Given the description of an element on the screen output the (x, y) to click on. 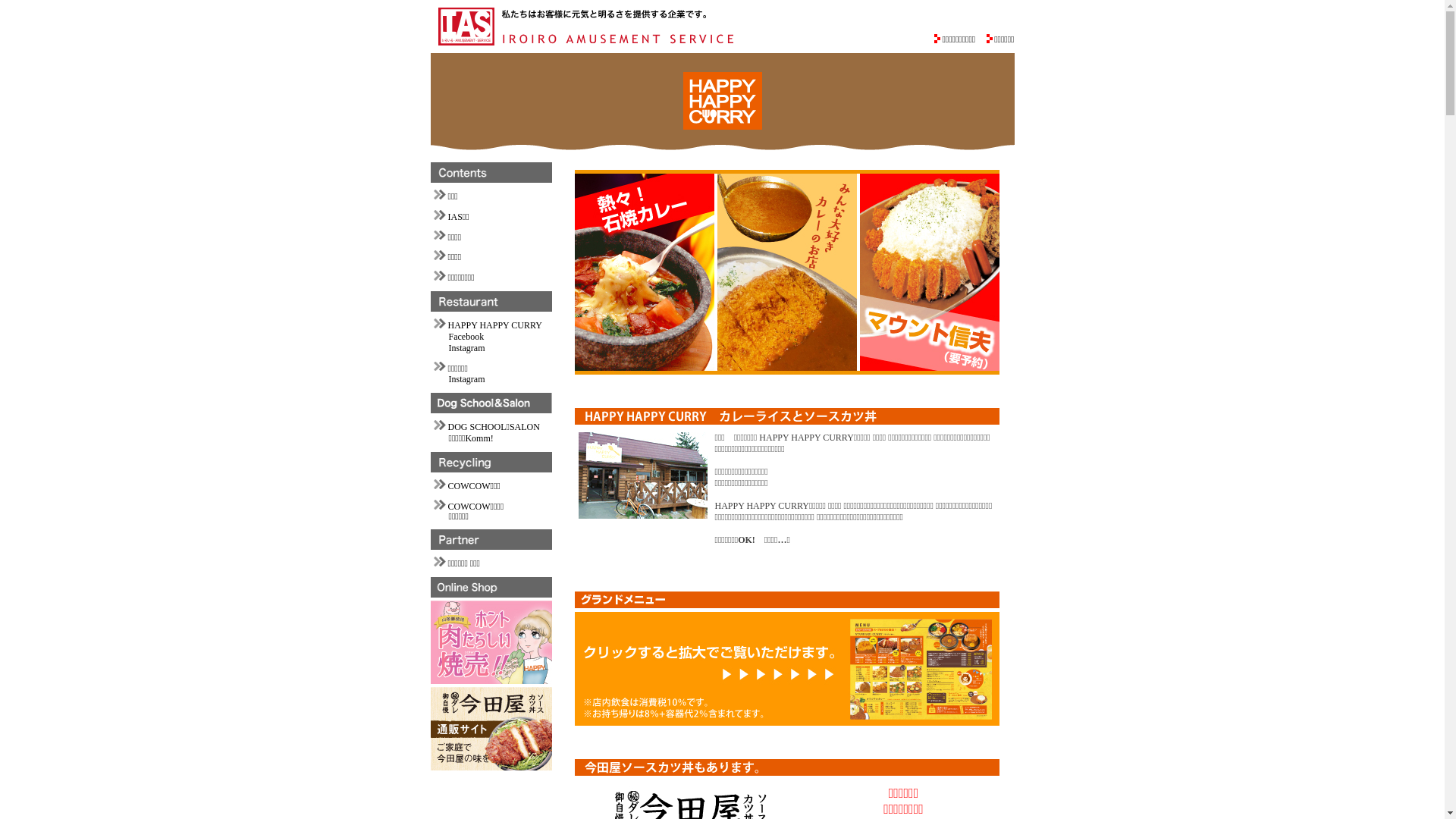
HAPPY HAPPY CURRY Element type: text (494, 325)
Facebook Element type: text (466, 336)
Instagram Element type: text (466, 378)
Instagram Element type: text (466, 347)
